Given the description of an element on the screen output the (x, y) to click on. 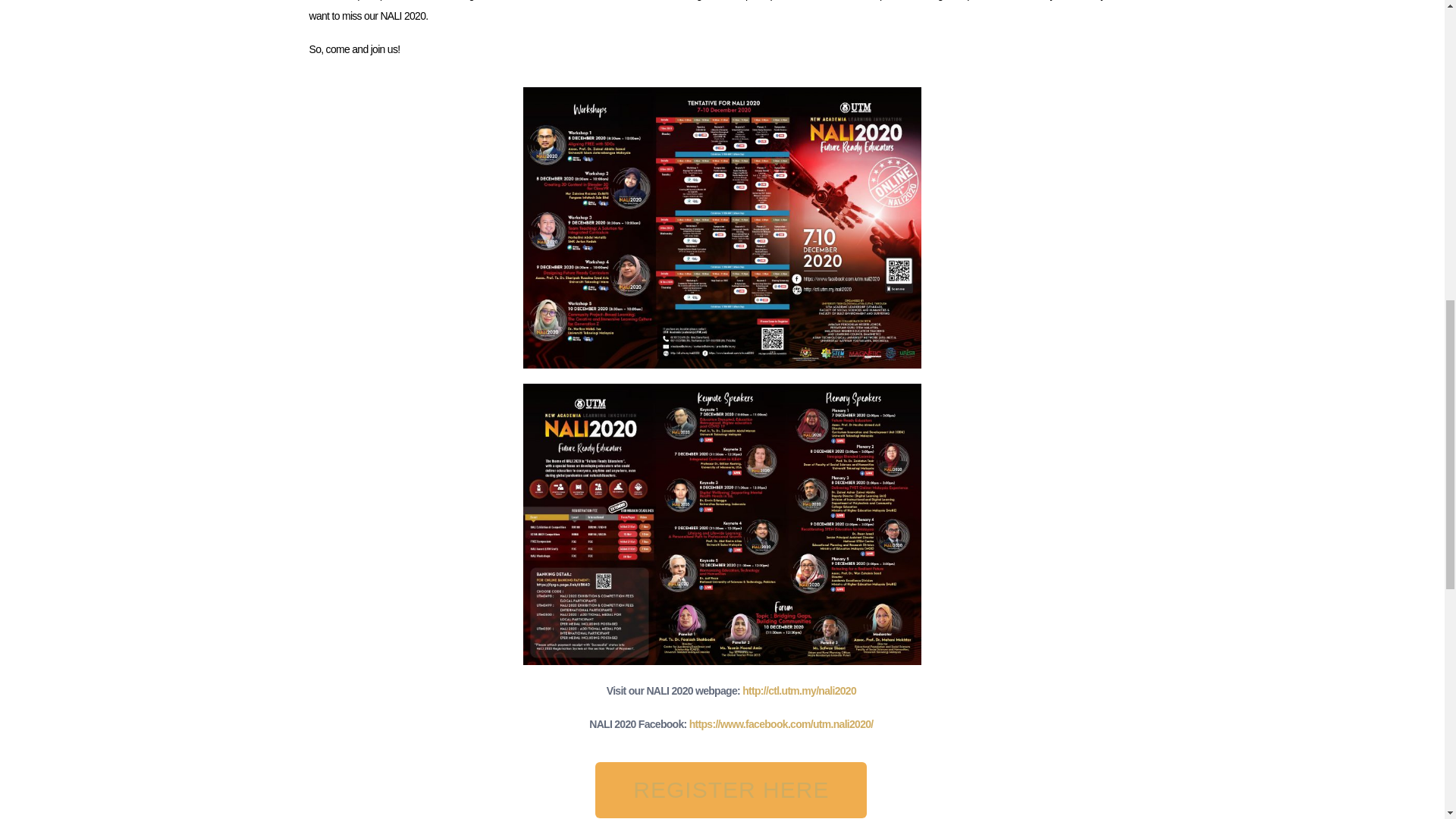
REGISTER HERE (730, 790)
